Given the description of an element on the screen output the (x, y) to click on. 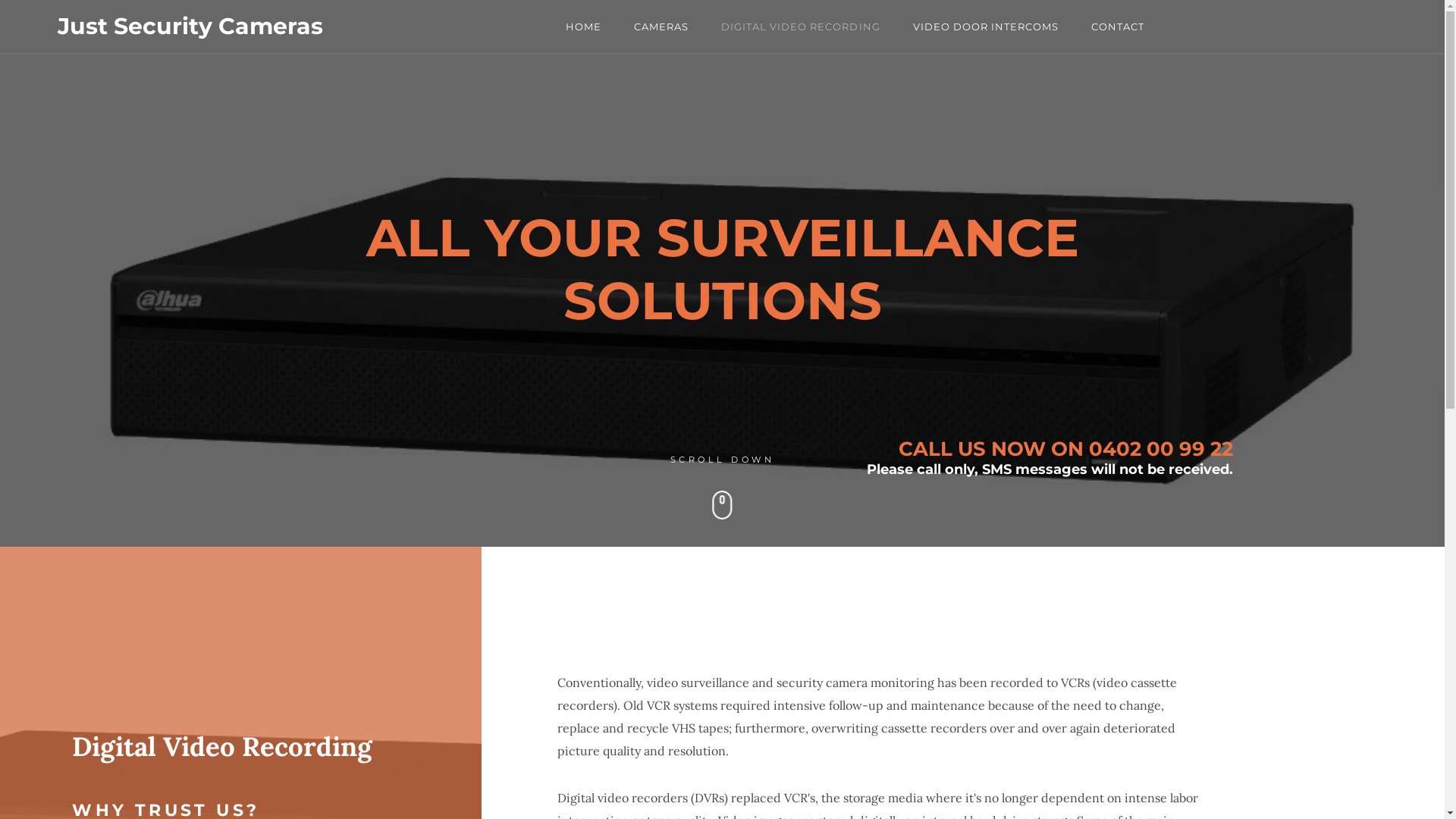
CAMERAS Element type: text (660, 26)
VIDEO DOOR INTERCOMS Element type: text (986, 26)
CALL US NOW ON 0402 00 99 22 Element type: text (1065, 448)
CONTACT Element type: text (1117, 26)
DIGITAL VIDEO RECORDING Element type: text (800, 26)
Just Security Cameras Element type: text (190, 26)
HOME Element type: text (583, 26)
